Given the description of an element on the screen output the (x, y) to click on. 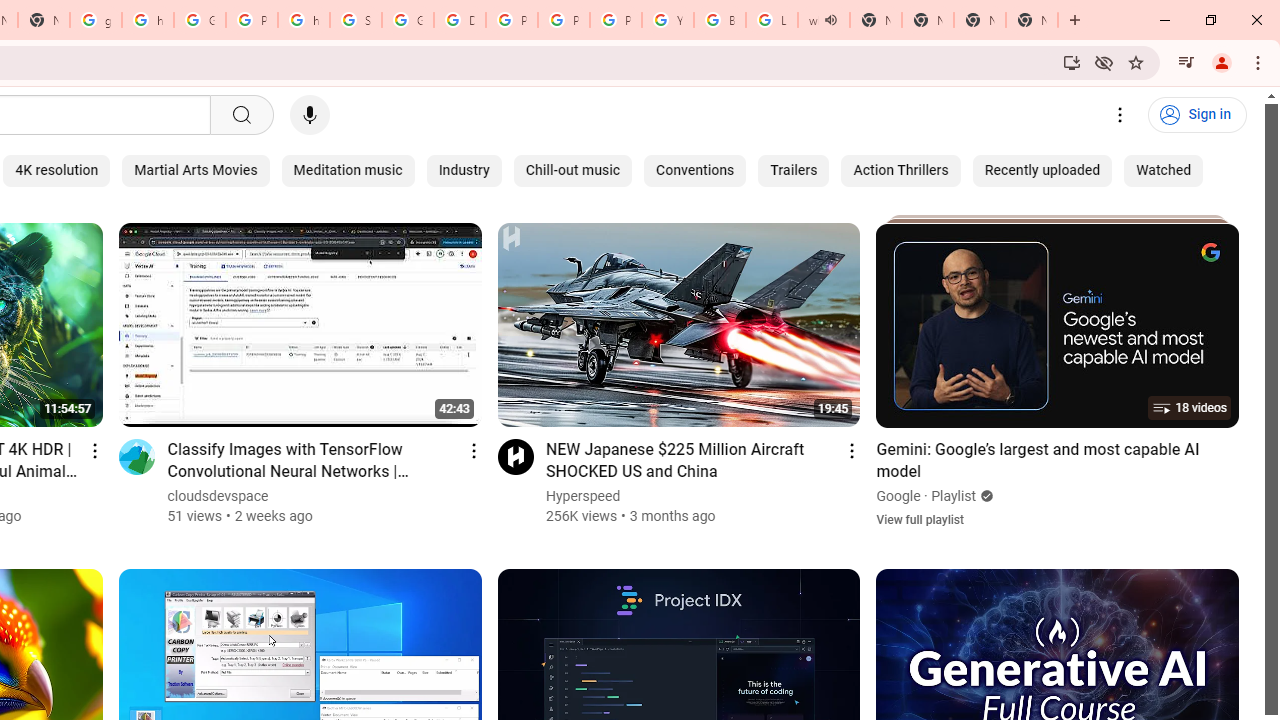
Sign in (1197, 115)
Sign in - Google Accounts (355, 20)
4K resolution (56, 170)
Privacy Help Center - Policies Help (511, 20)
Search (240, 115)
YouTube (667, 20)
Control your music, videos, and more (1185, 62)
Watched (1163, 170)
cloudsdevspace (218, 496)
Privacy Help Center - Policies Help (563, 20)
